Given the description of an element on the screen output the (x, y) to click on. 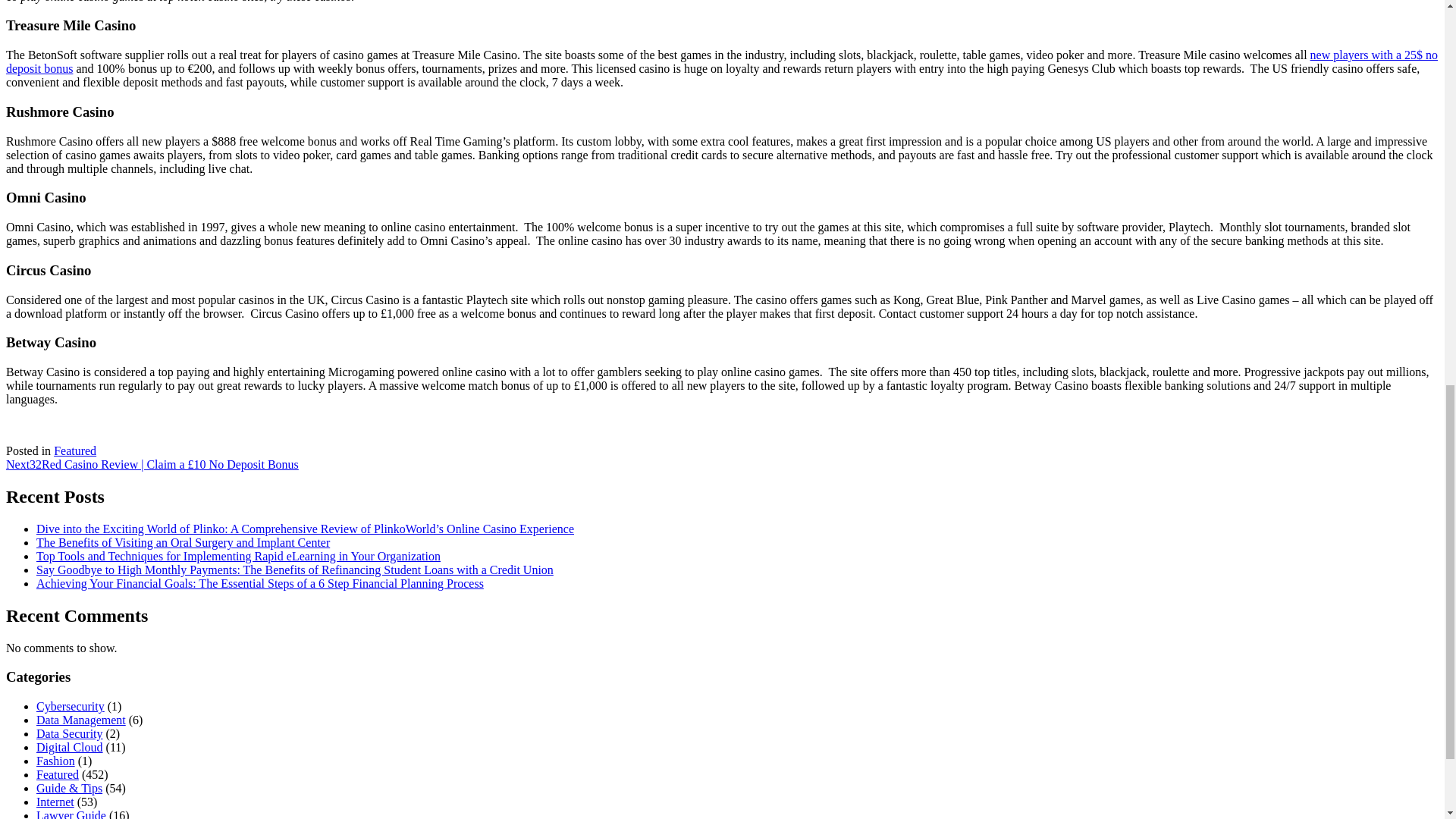
Digital Cloud (69, 747)
Data Security (69, 733)
Featured (74, 450)
Cybersecurity (70, 706)
Data Management (80, 719)
The Benefits of Visiting an Oral Surgery and Implant Center (183, 542)
Internet (55, 801)
